Given the description of an element on the screen output the (x, y) to click on. 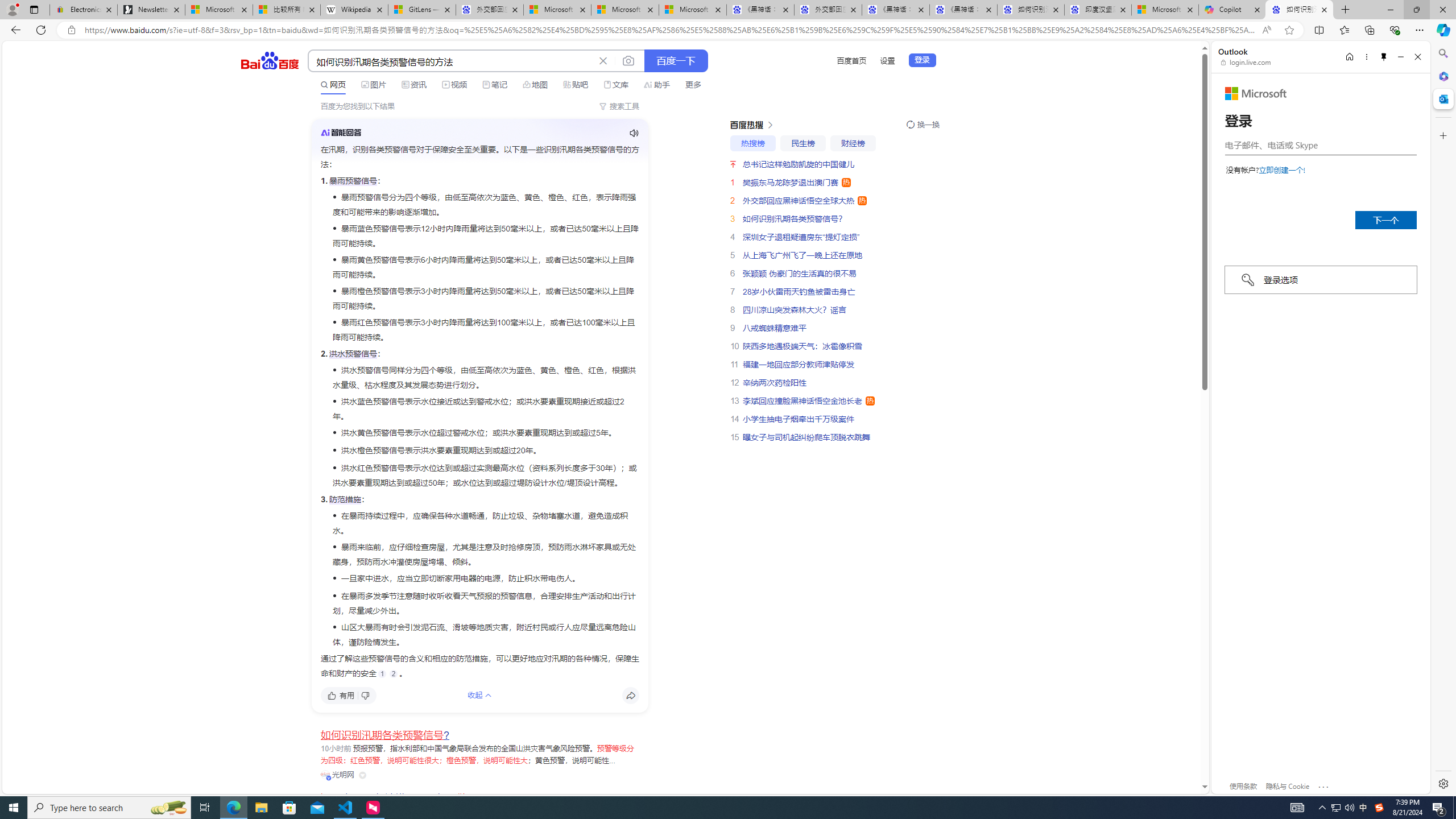
Home (1348, 56)
Newsletter Sign Up (150, 9)
Microsoft (1255, 93)
More options (1366, 56)
